Given the description of an element on the screen output the (x, y) to click on. 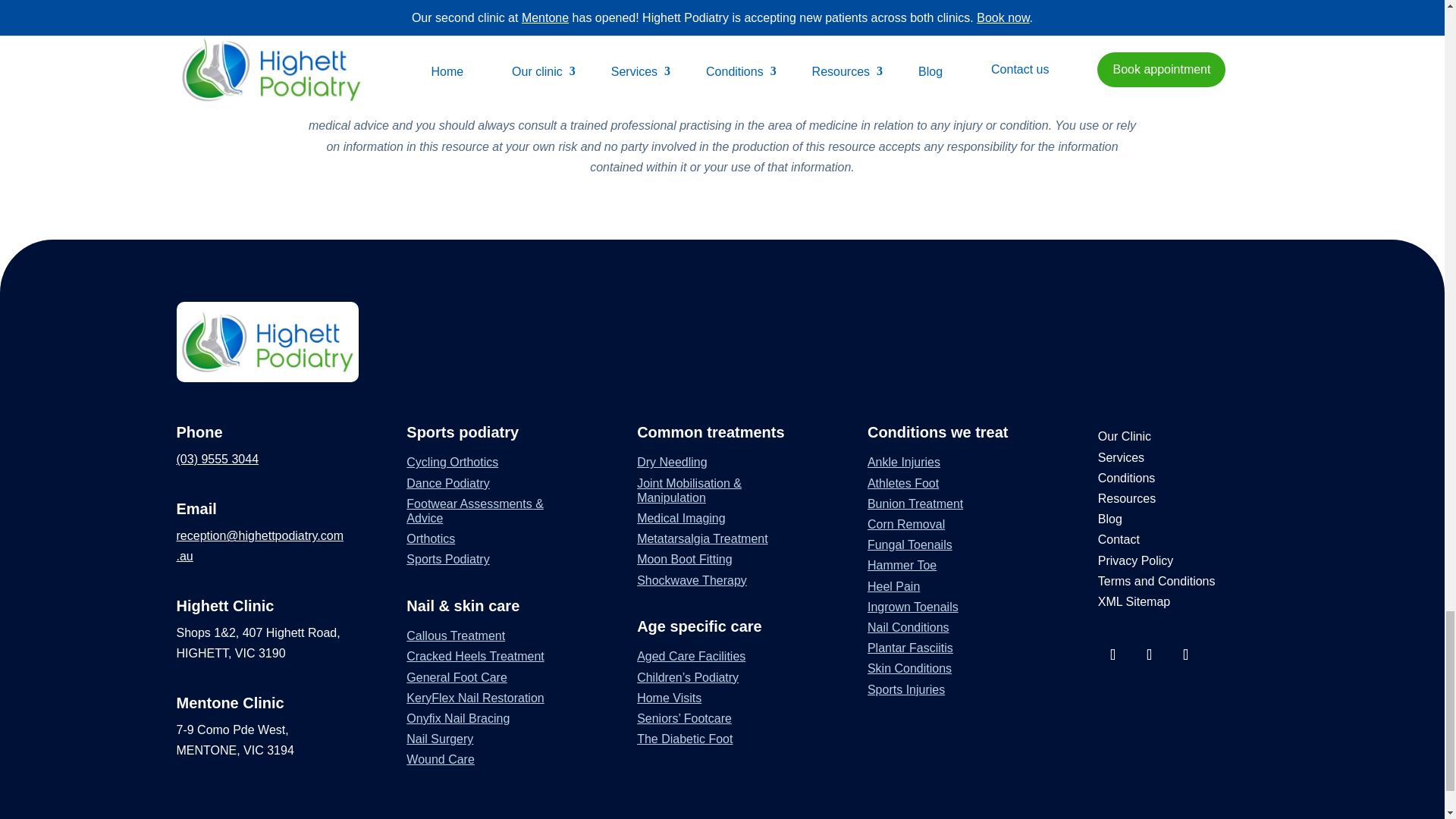
Follow on Youtube (1185, 654)
Follow on Instagram (1149, 654)
Highett Podiatry Logo (267, 341)
Follow on Facebook (1112, 654)
